Given the description of an element on the screen output the (x, y) to click on. 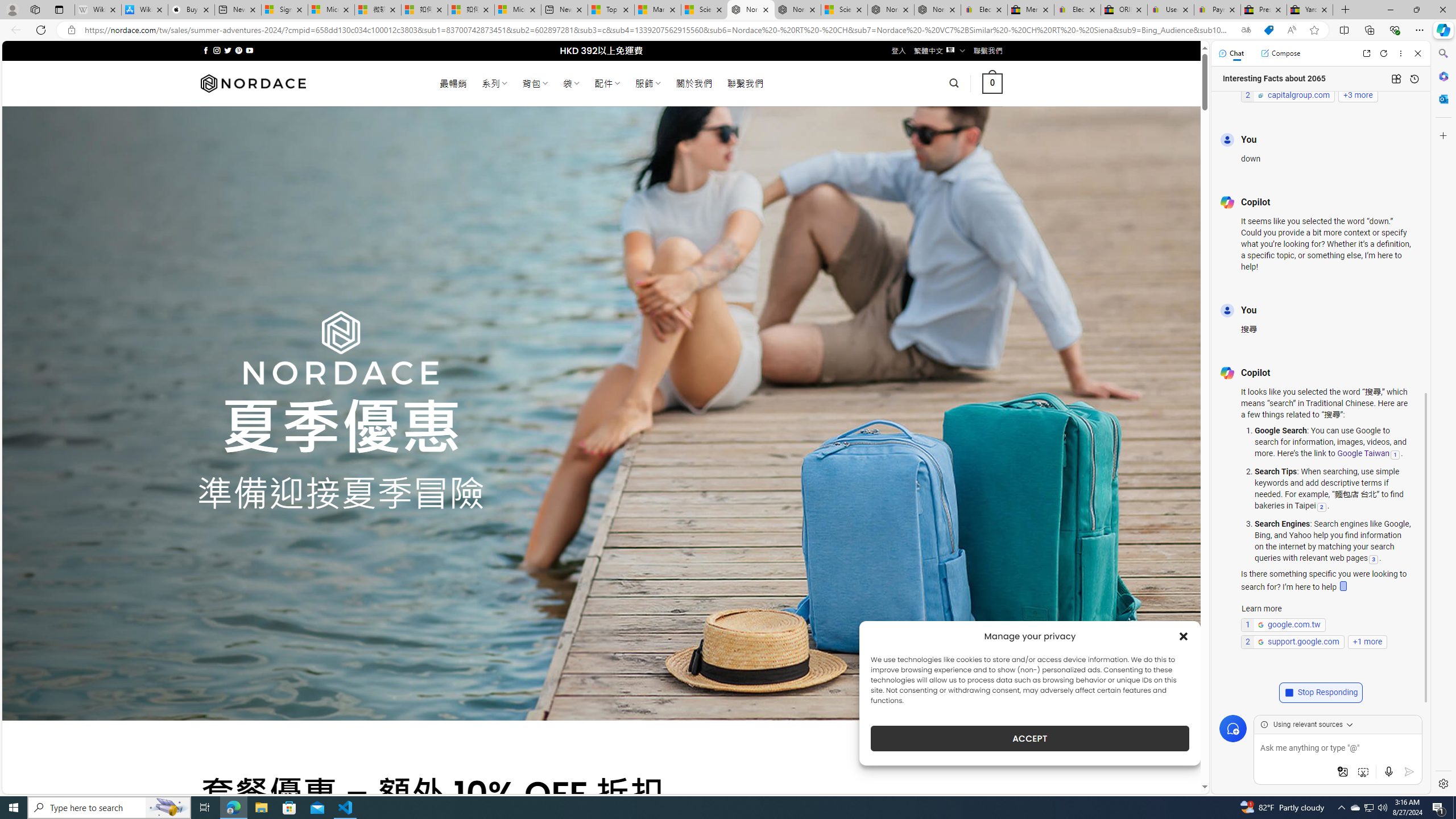
Wikipedia - Sleeping (97, 9)
Nordace (252, 83)
Side bar (1443, 418)
Top Stories - MSN (610, 9)
Follow on Facebook (205, 50)
Chat (1231, 52)
Payments Terms of Use | eBay.com (1216, 9)
Electronics, Cars, Fashion, Collectibles & More | eBay (1077, 9)
